Given the description of an element on the screen output the (x, y) to click on. 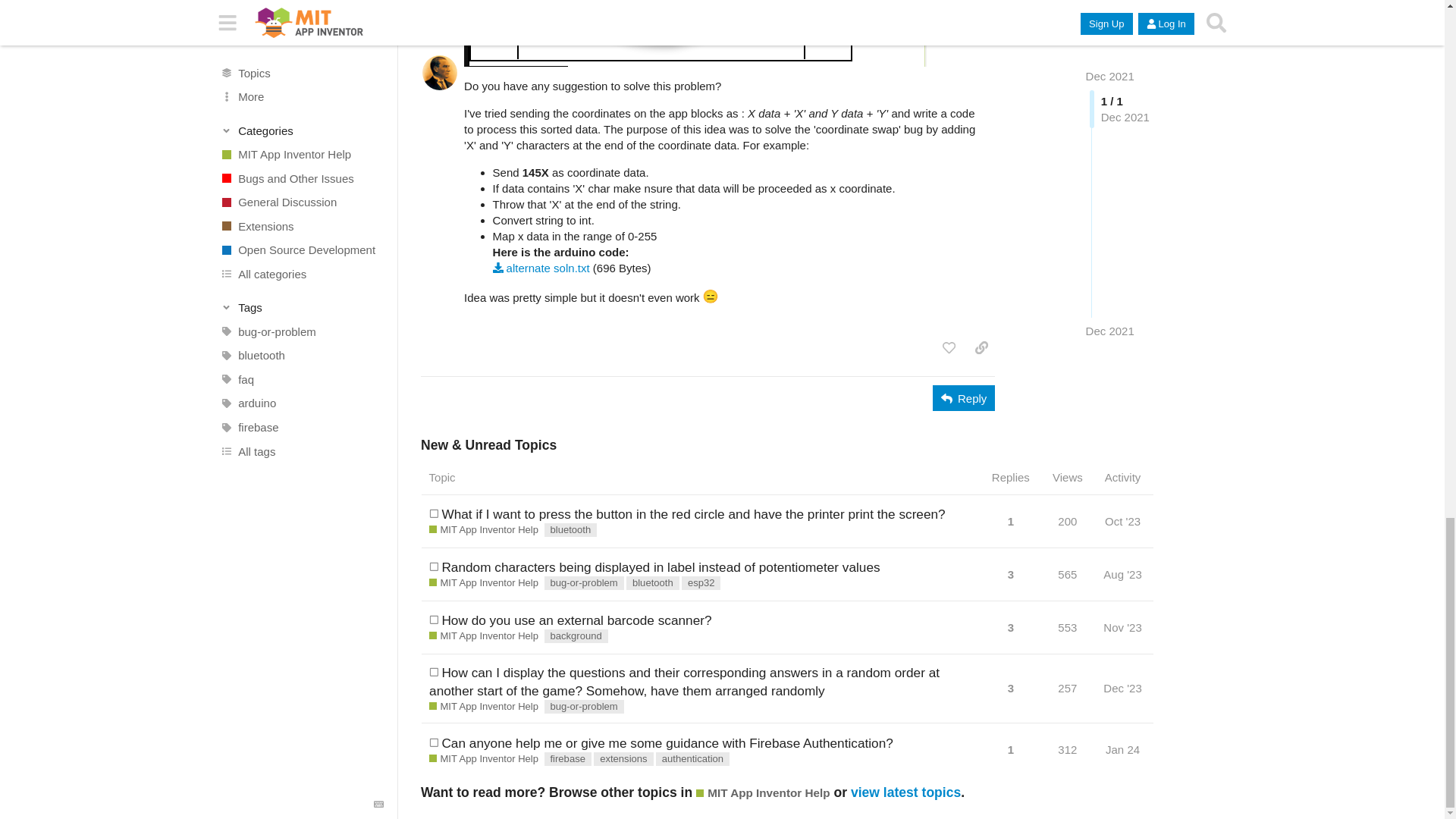
alternate soln.txt (541, 267)
